Given the description of an element on the screen output the (x, y) to click on. 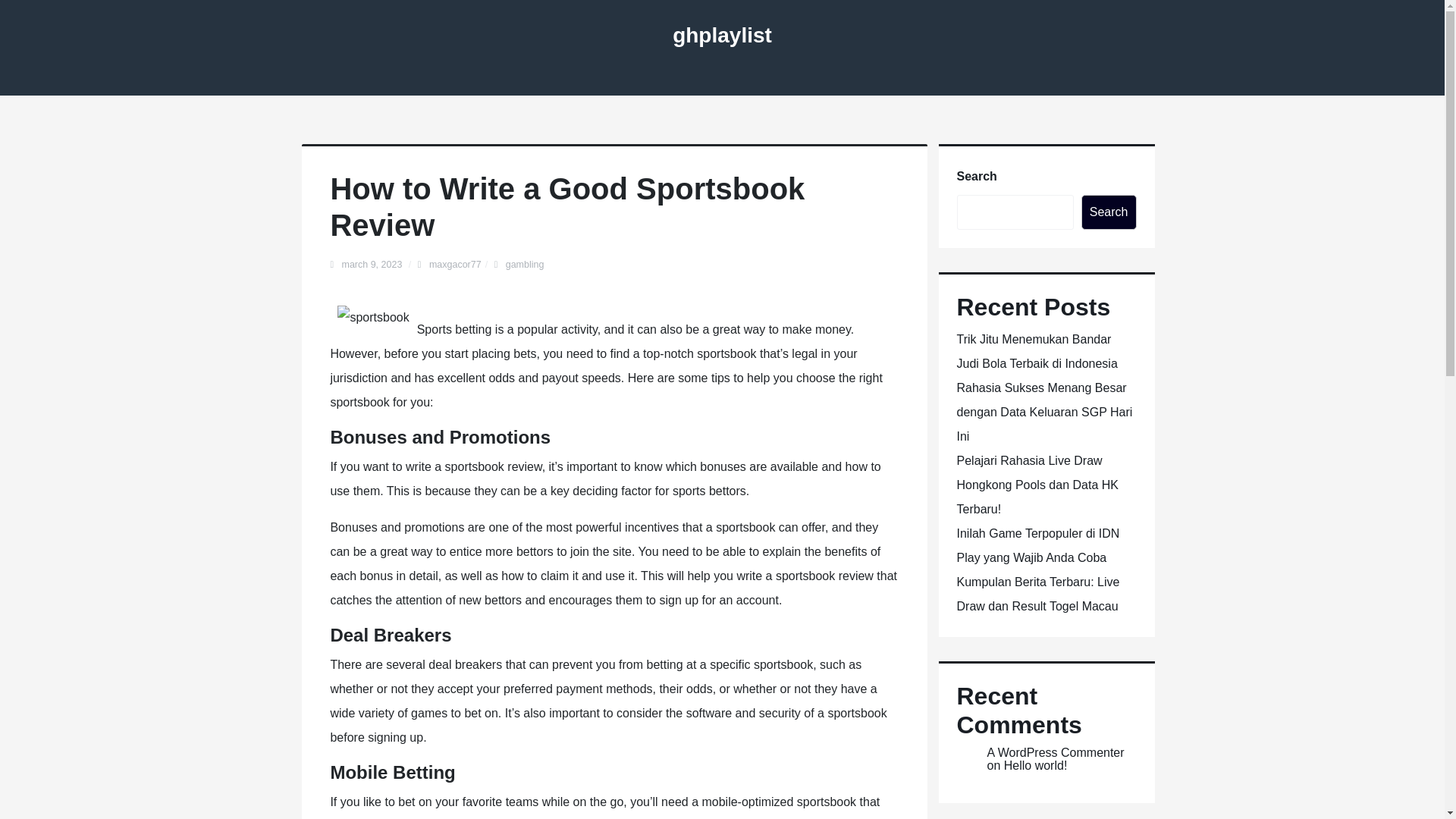
maxgacor77 (455, 264)
Kumpulan Berita Terbaru: Live Draw dan Result Togel Macau (1037, 593)
march 9, 2023 (372, 264)
A WordPress Commenter (1055, 752)
Inilah Game Terpopuler di IDN Play yang Wajib Anda Coba (1037, 545)
Hello world! (1035, 765)
Search (1109, 212)
Trik Jitu Menemukan Bandar Judi Bola Terbaik di Indonesia (1037, 351)
ghplaylist (721, 34)
gambling (524, 264)
